Given the description of an element on the screen output the (x, y) to click on. 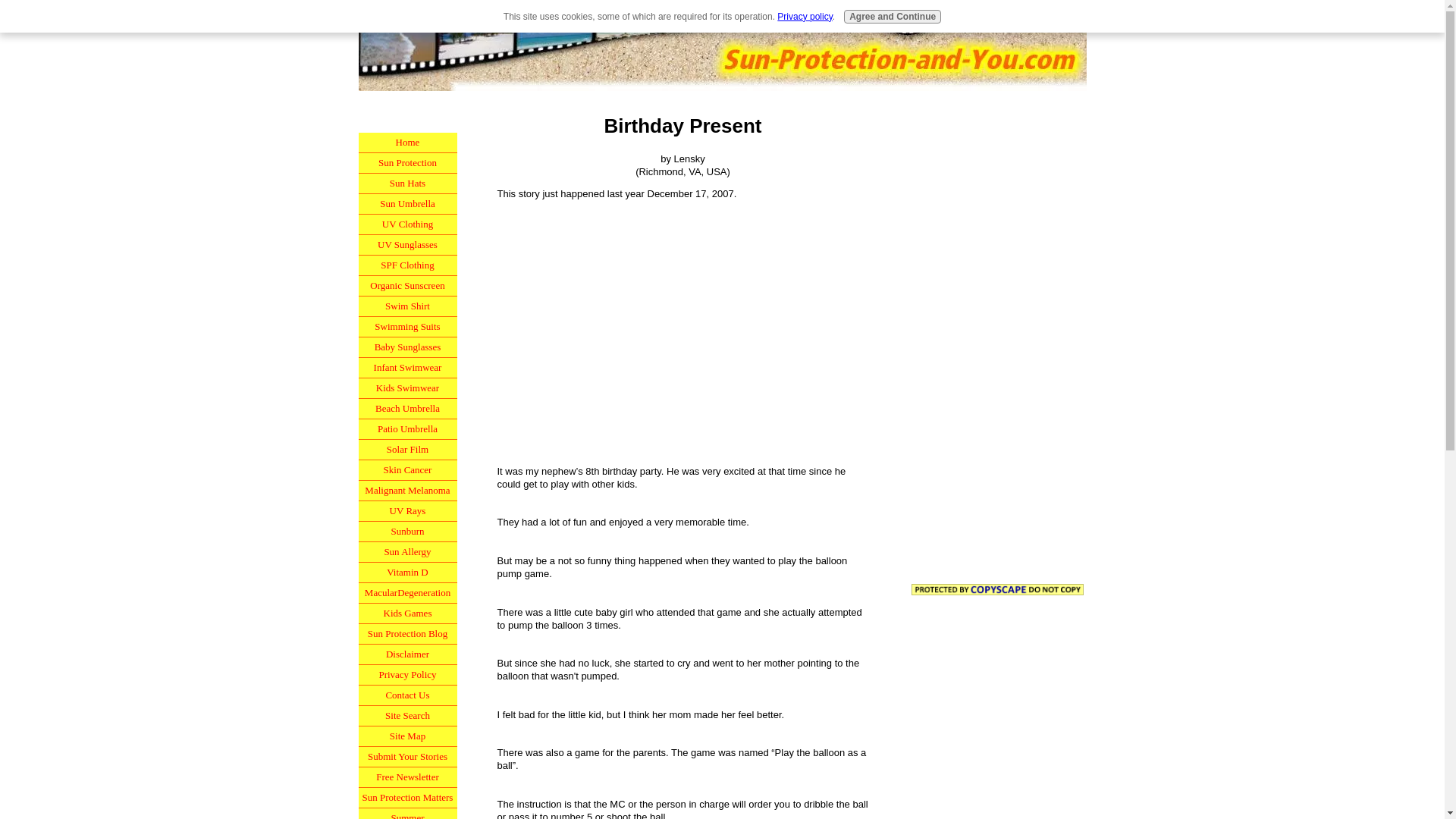
Sun Hats (407, 183)
Sun Allergy (407, 552)
Swim Shirt (407, 306)
Site Search (407, 715)
Baby Sunglasses (407, 347)
Home (407, 142)
Solar Film (407, 449)
UV Sunglasses (407, 245)
Sun Protection Blog (407, 634)
UV Clothing (407, 224)
Swimming Suits (407, 326)
UV Rays (407, 511)
Site Map (407, 736)
SPF Clothing (407, 265)
Disclaimer (407, 654)
